Given the description of an element on the screen output the (x, y) to click on. 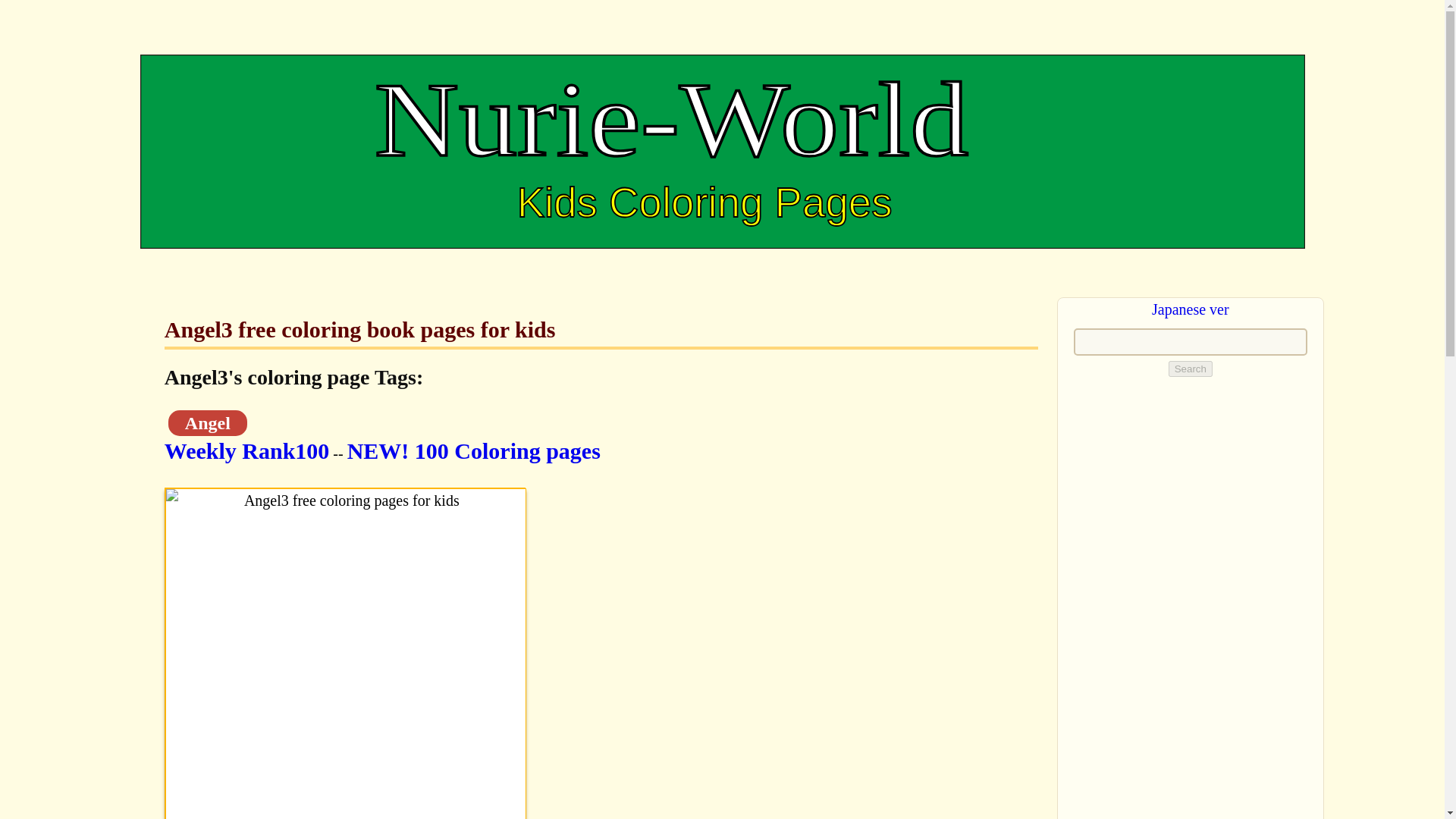
Weekly Rank100 (247, 450)
Angel (208, 422)
